Given the description of an element on the screen output the (x, y) to click on. 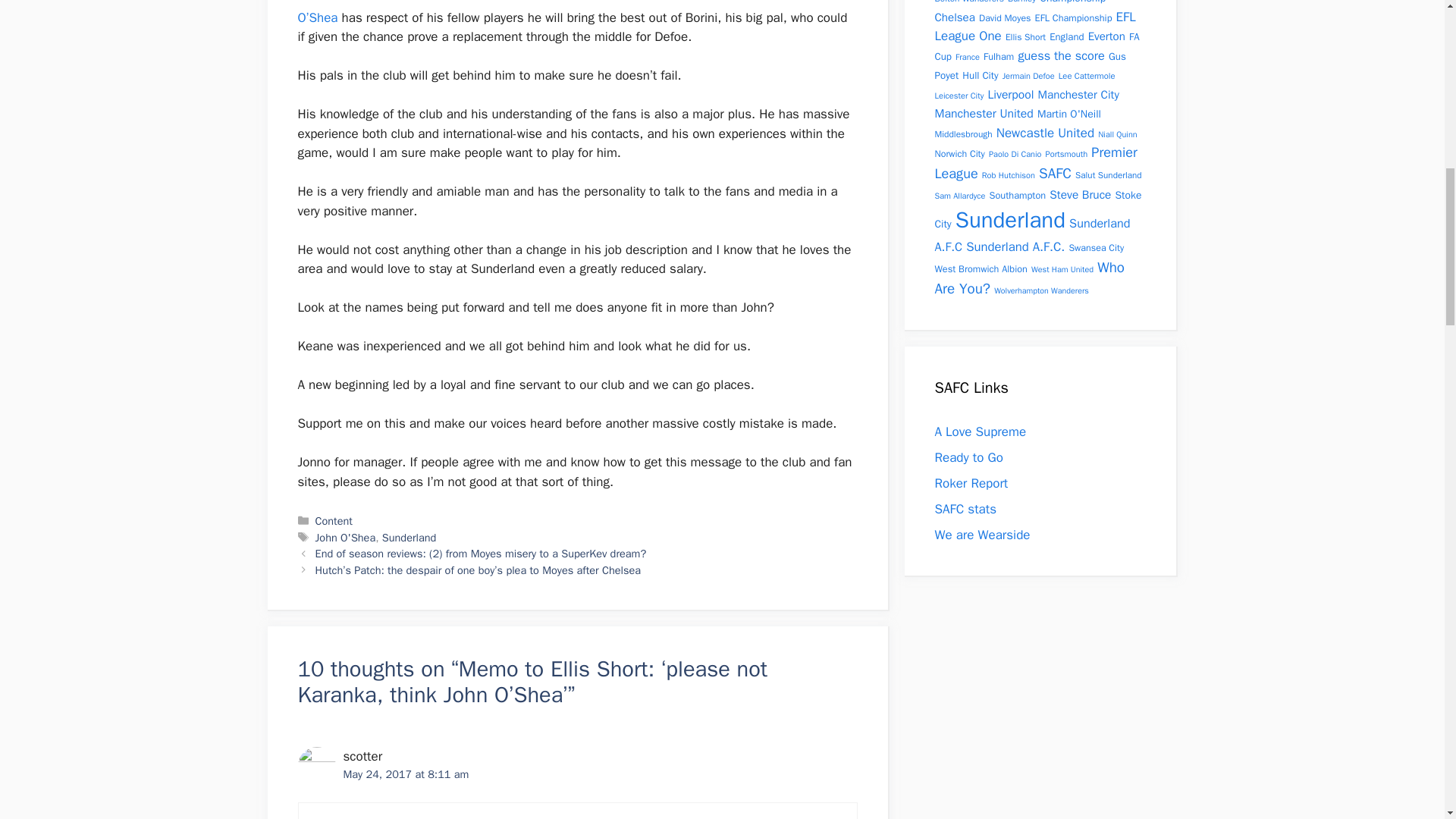
Burnley (1021, 2)
May 24, 2017 at 8:11 am (405, 774)
John O'Shea (345, 537)
Content (333, 520)
David Moyes (1004, 18)
Bolton Wanderers (968, 2)
Sunderland (408, 537)
Championship (1072, 2)
Chelsea (954, 16)
